Given the description of an element on the screen output the (x, y) to click on. 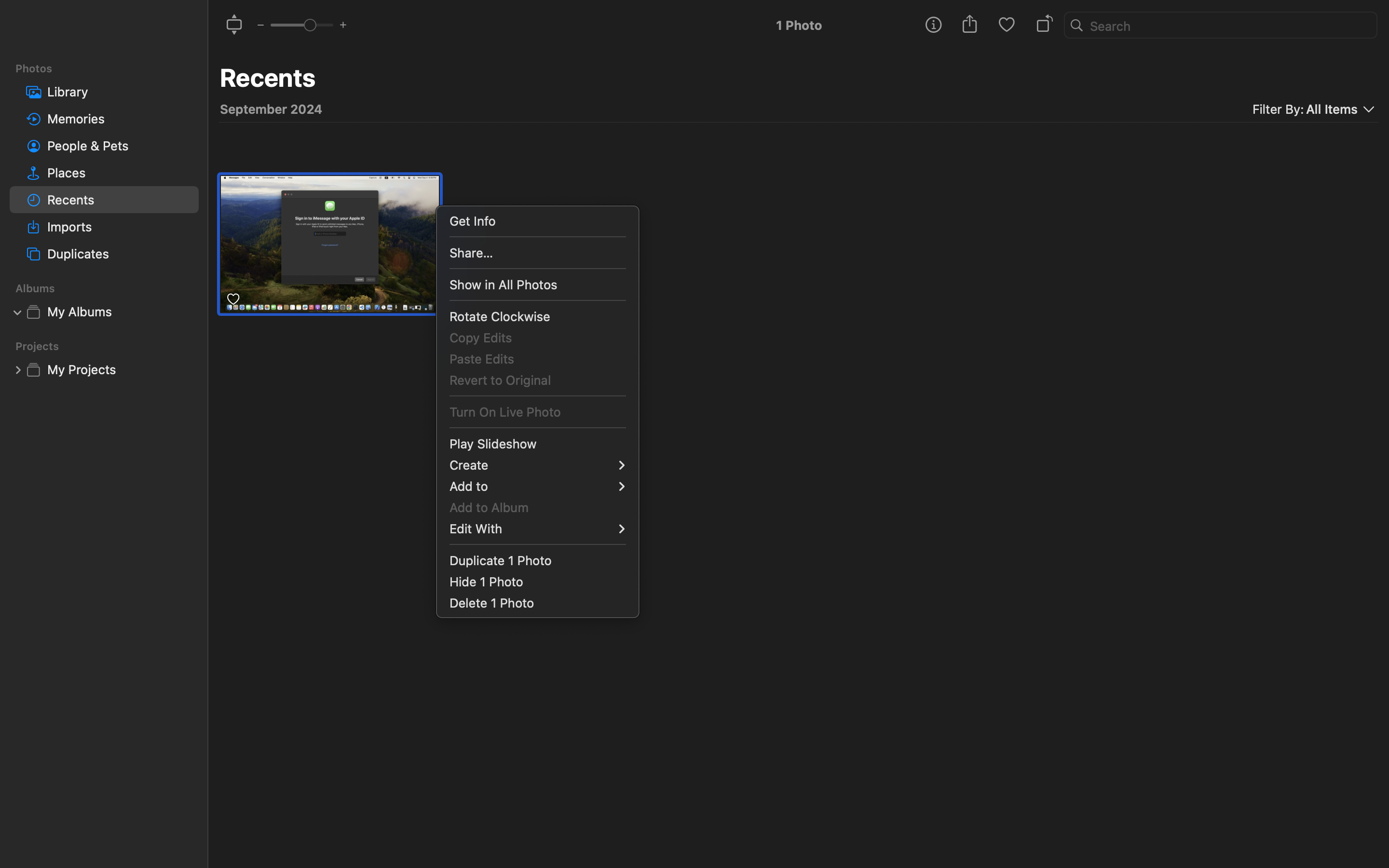
0 Element type: AXDisclosureTriangle (17, 368)
My Projects Element type: AXStaticText (118, 369)
Duplicates Element type: AXStaticText (118, 253)
Projects Element type: AXStaticText (109, 345)
0 Element type: AXCheckBox (1006, 25)
